Given the description of an element on the screen output the (x, y) to click on. 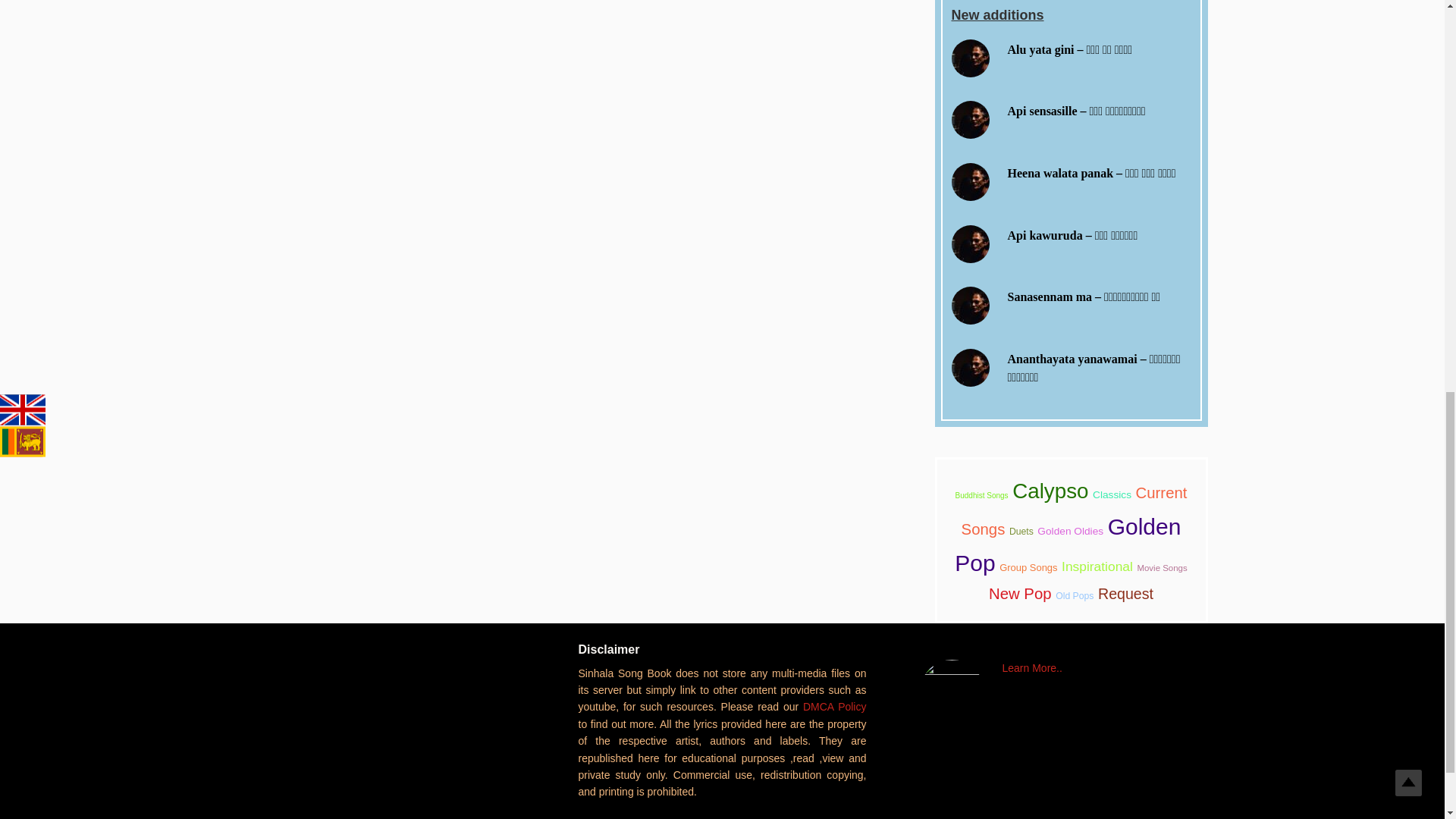
7 topics (1161, 567)
32 topics (1067, 544)
15 topics (1096, 566)
19 topics (1019, 593)
8 topics (1021, 531)
10 topics (1112, 494)
5 topics (982, 495)
10 topics (1069, 531)
29 topics (1049, 490)
9 topics (1027, 567)
18 topics (1125, 593)
19 topics (1074, 510)
8 topics (1074, 595)
